Given the description of an element on the screen output the (x, y) to click on. 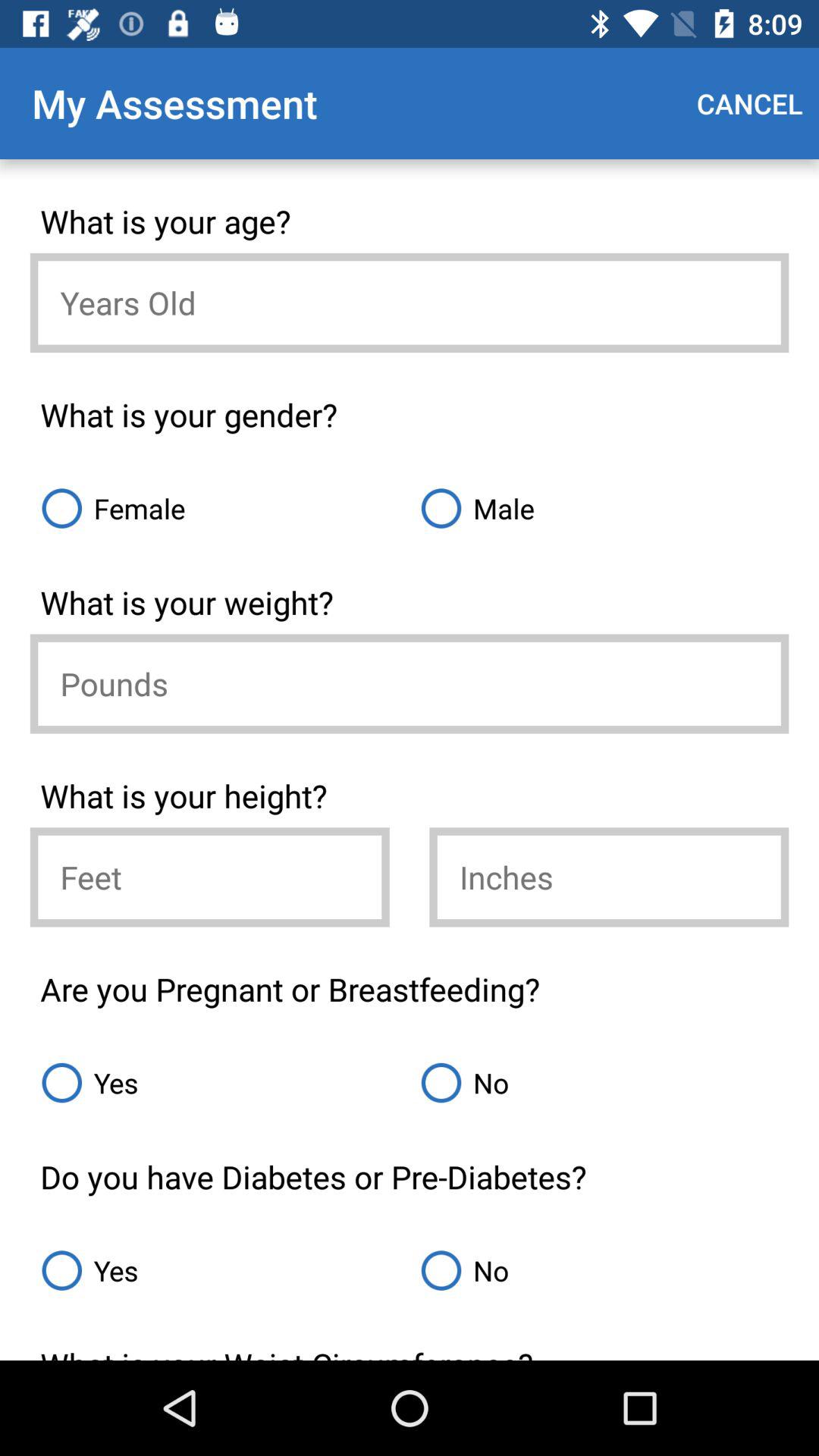
enter age (409, 302)
